Given the description of an element on the screen output the (x, y) to click on. 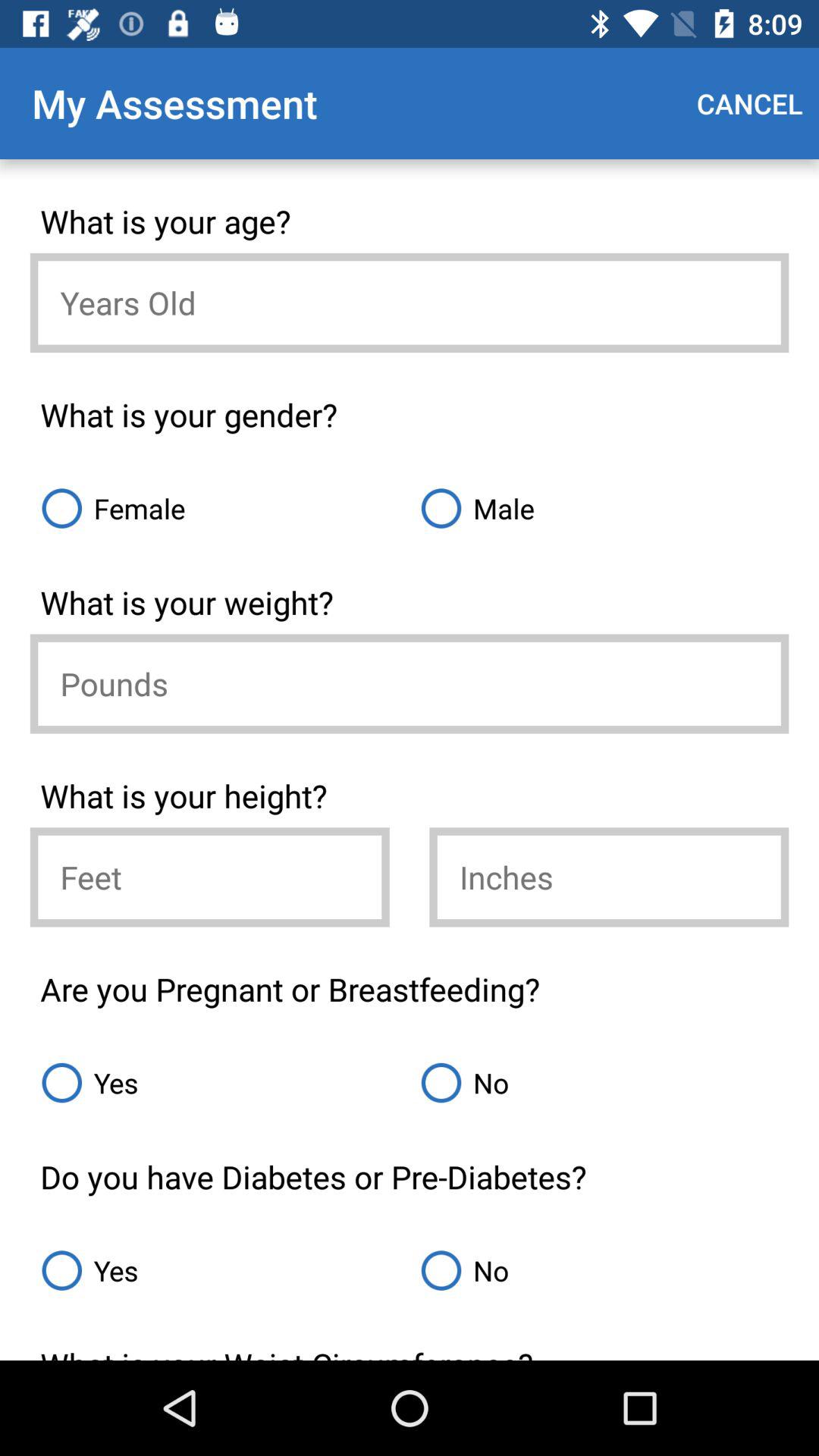
enter age (409, 302)
